Given the description of an element on the screen output the (x, y) to click on. 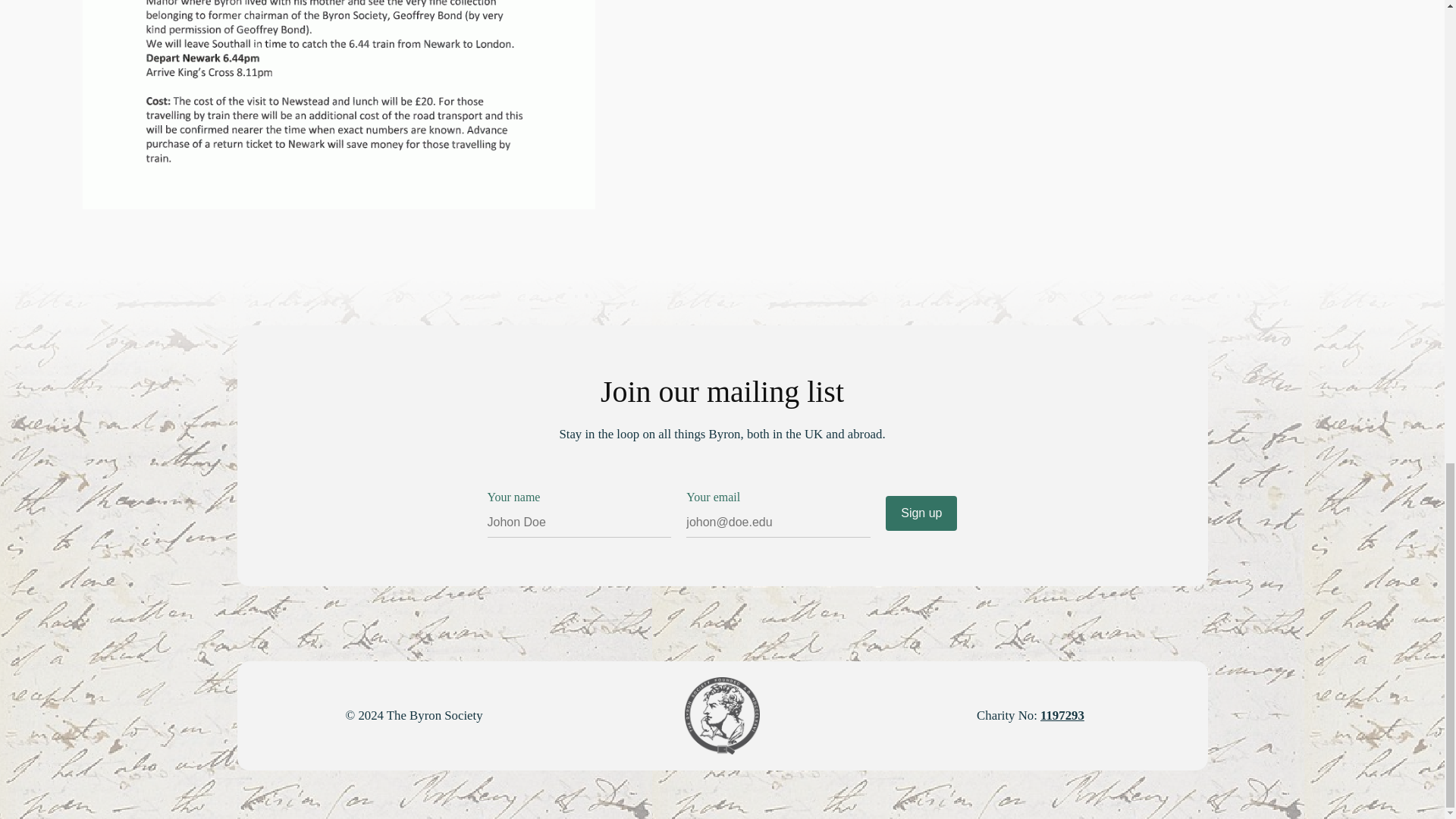
Sign up (920, 513)
1197293 (1062, 715)
Sign up (920, 513)
